Given the description of an element on the screen output the (x, y) to click on. 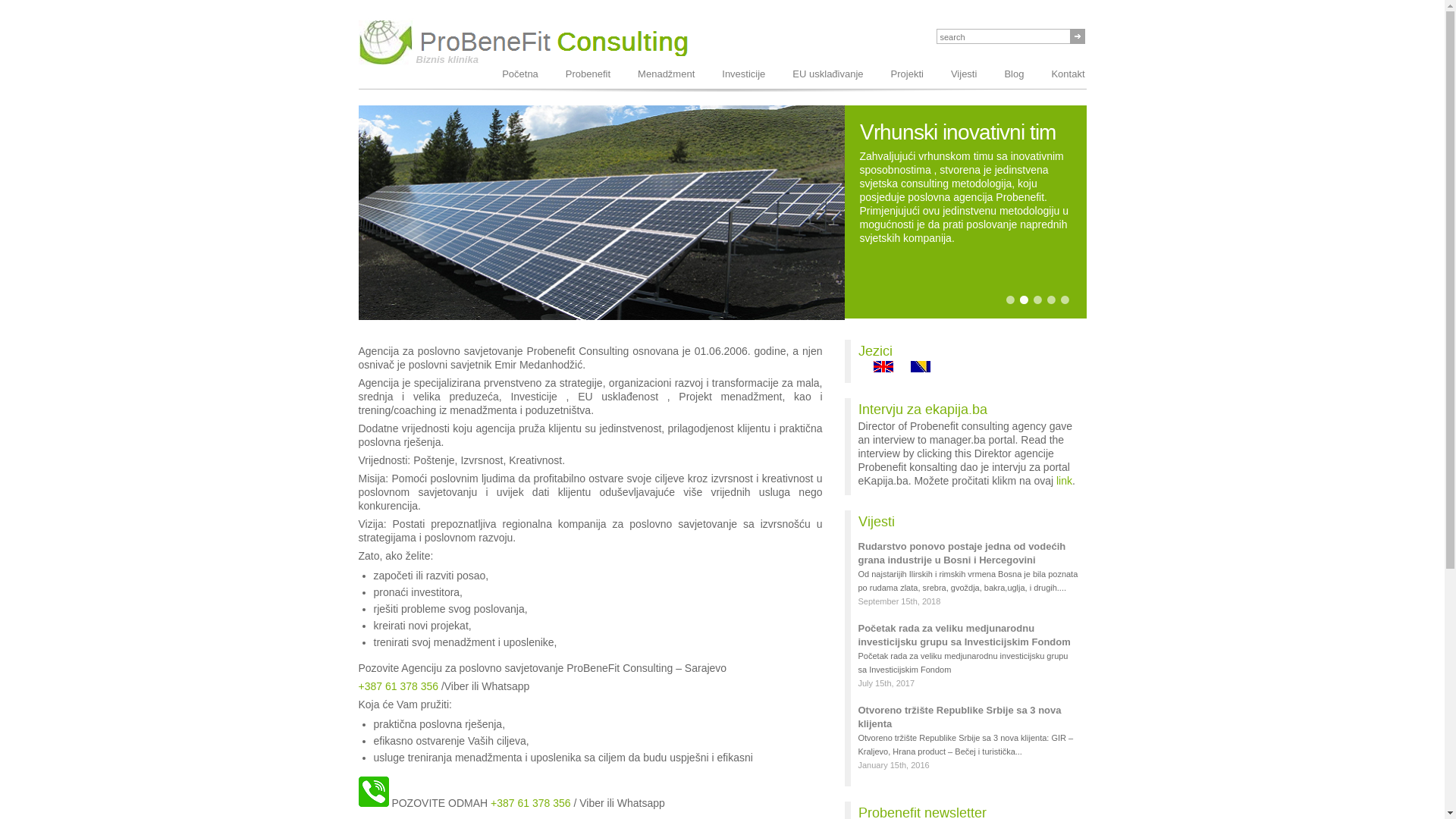
Investicije Element type: text (743, 73)
1 Element type: text (1010, 300)
+387 61 378 356 Element type: text (530, 803)
Probenefit Element type: text (588, 73)
2 Element type: text (1024, 300)
Projekti Element type: text (907, 73)
4 Element type: text (1051, 300)
Kontakt Element type: text (1067, 73)
5 Element type: text (1065, 300)
Vrhunski inovativni tim Element type: hover (600, 212)
+387 61 378 356 Element type: text (397, 686)
3 Element type: text (1037, 300)
Vijesti Element type: text (963, 73)
Blog Element type: text (1013, 73)
Agencija za poslovno savjetovanje Probenefit Consulting Element type: hover (600, 211)
link Element type: text (1064, 480)
